Given the description of an element on the screen output the (x, y) to click on. 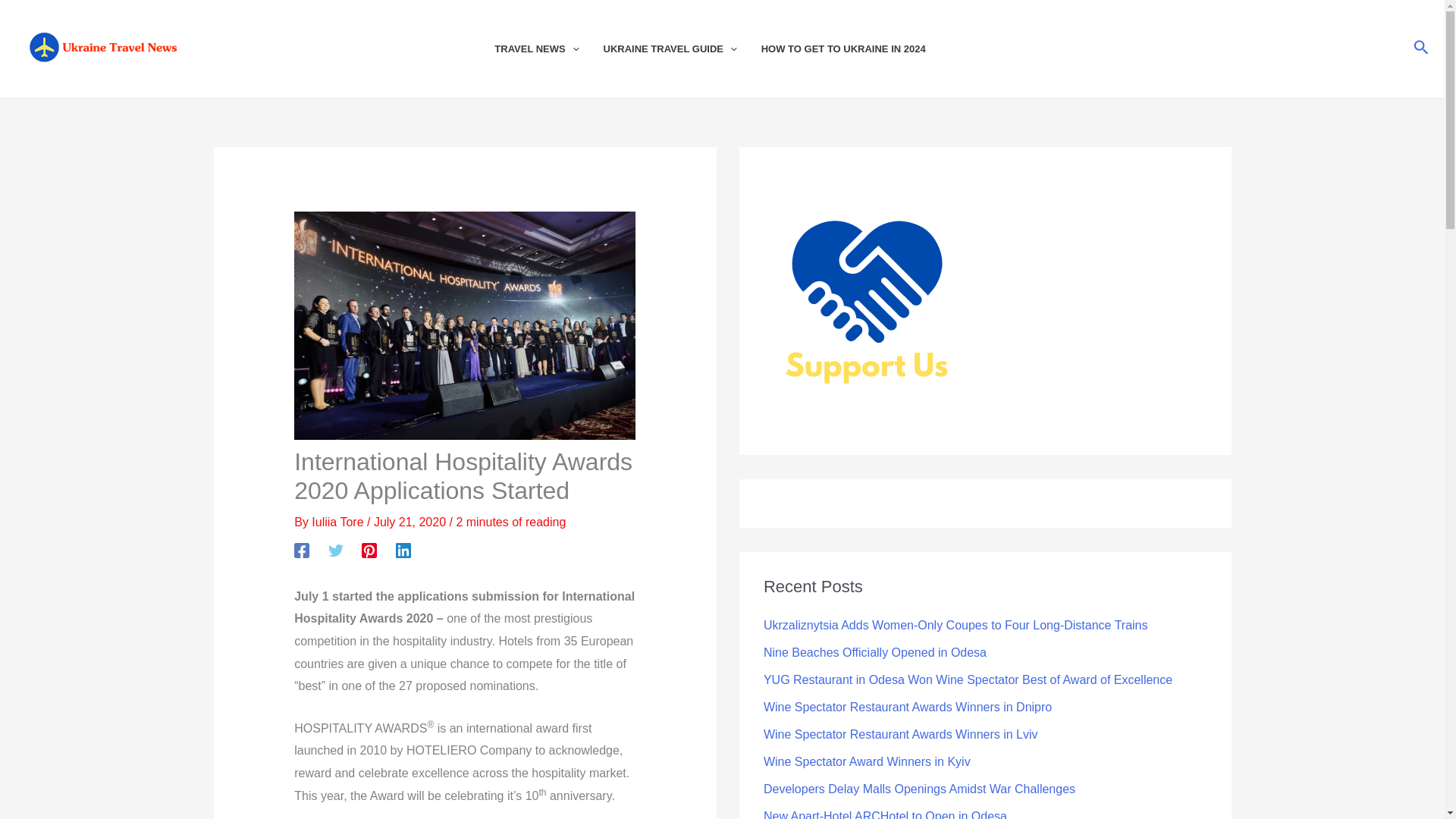
View all posts by Iuliia Tore (338, 521)
TRAVEL NEWS (548, 48)
HOW TO GET TO UKRAINE IN 2024 (855, 48)
Iuliia Tore (338, 521)
UKRAINE TRAVEL GUIDE (682, 48)
